Given the description of an element on the screen output the (x, y) to click on. 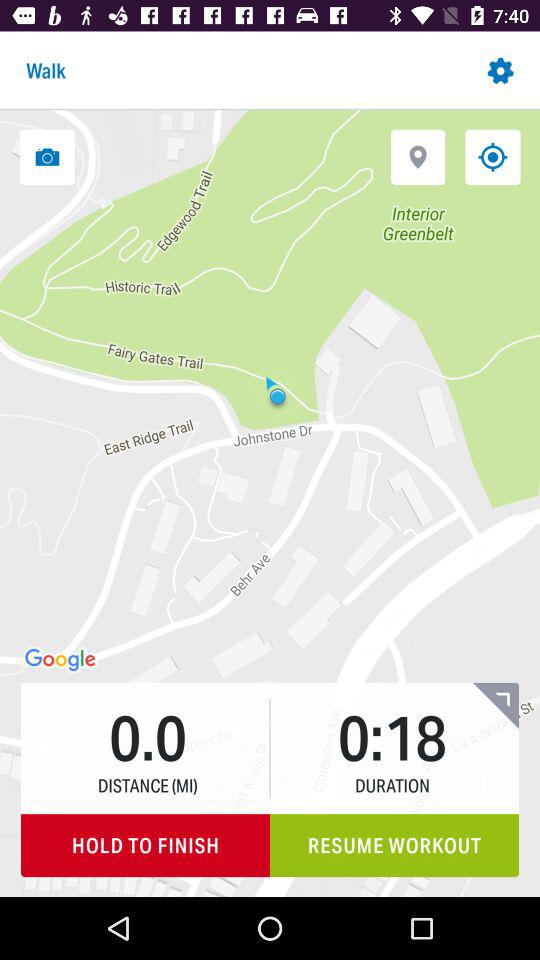
open the item to the right of the hold to finish item (394, 845)
